Given the description of an element on the screen output the (x, y) to click on. 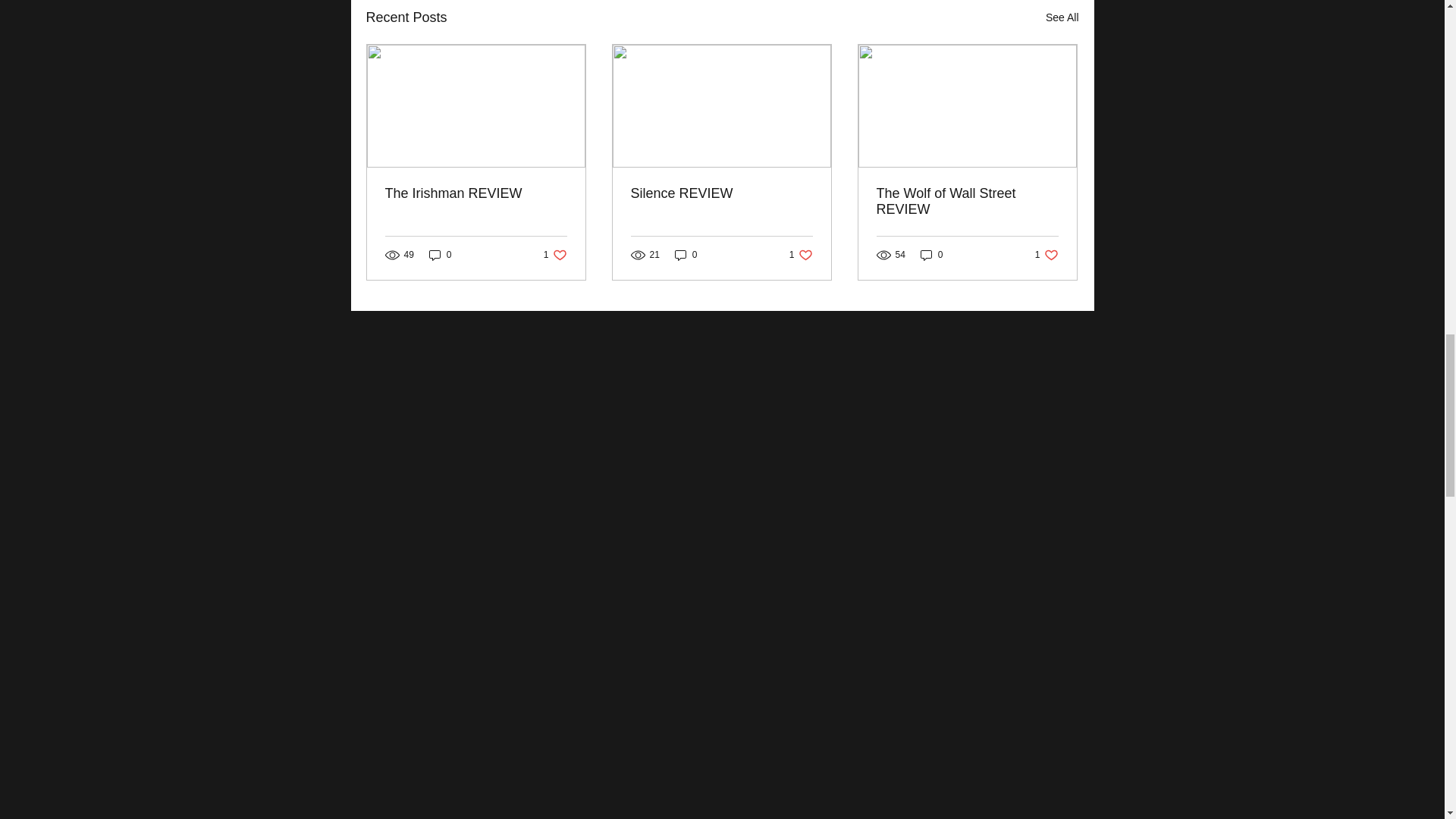
The Irishman REVIEW (476, 193)
See All (1061, 17)
0 (685, 255)
0 (440, 255)
Silence REVIEW (721, 193)
